Given the description of an element on the screen output the (x, y) to click on. 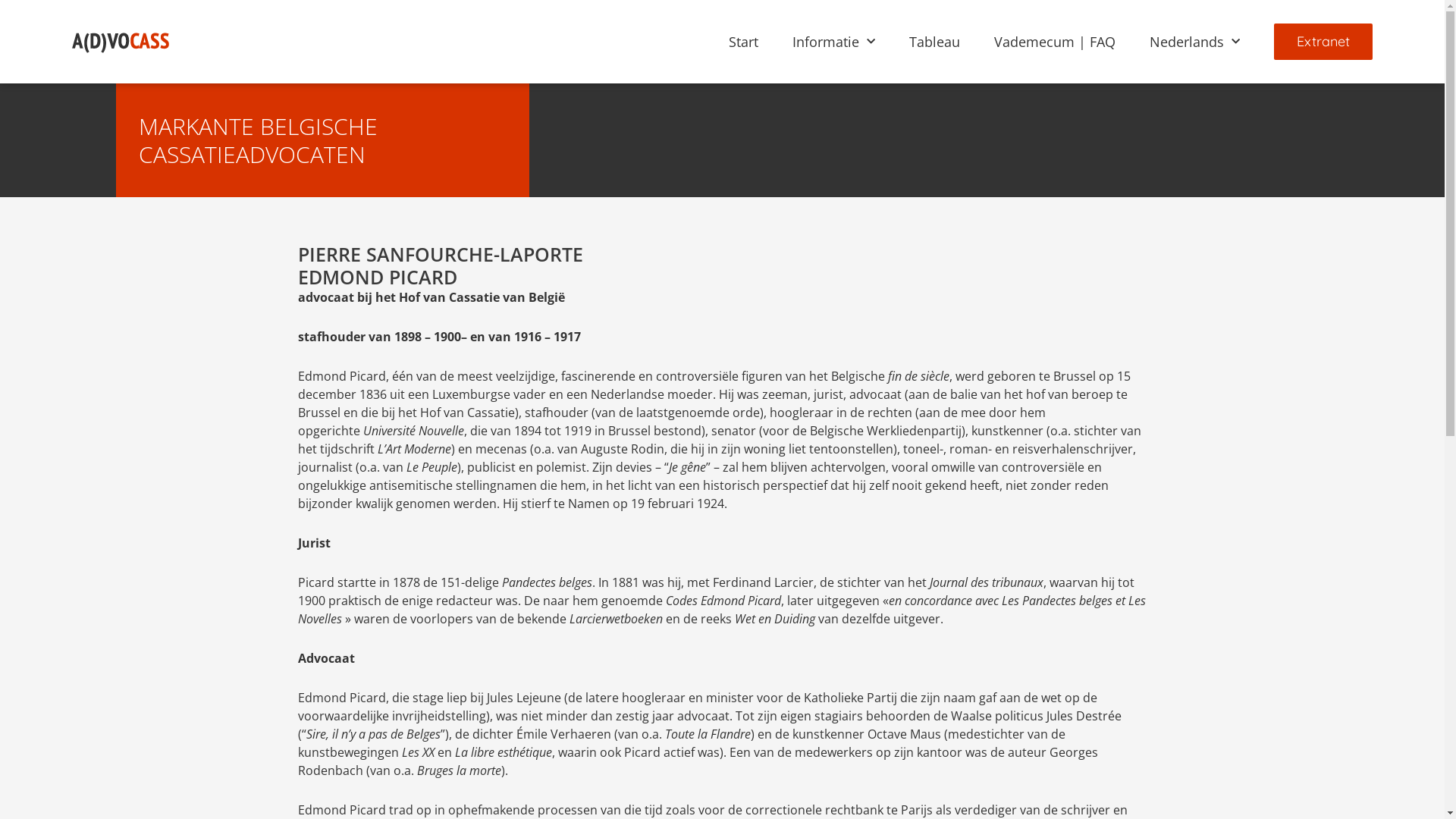
Tableau Element type: text (934, 41)
Informatie Element type: text (833, 41)
Vademecum | FAQ Element type: text (1054, 41)
Extranet Element type: text (1323, 41)
Nederlands Element type: text (1194, 41)
Start Element type: text (743, 41)
